Given the description of an element on the screen output the (x, y) to click on. 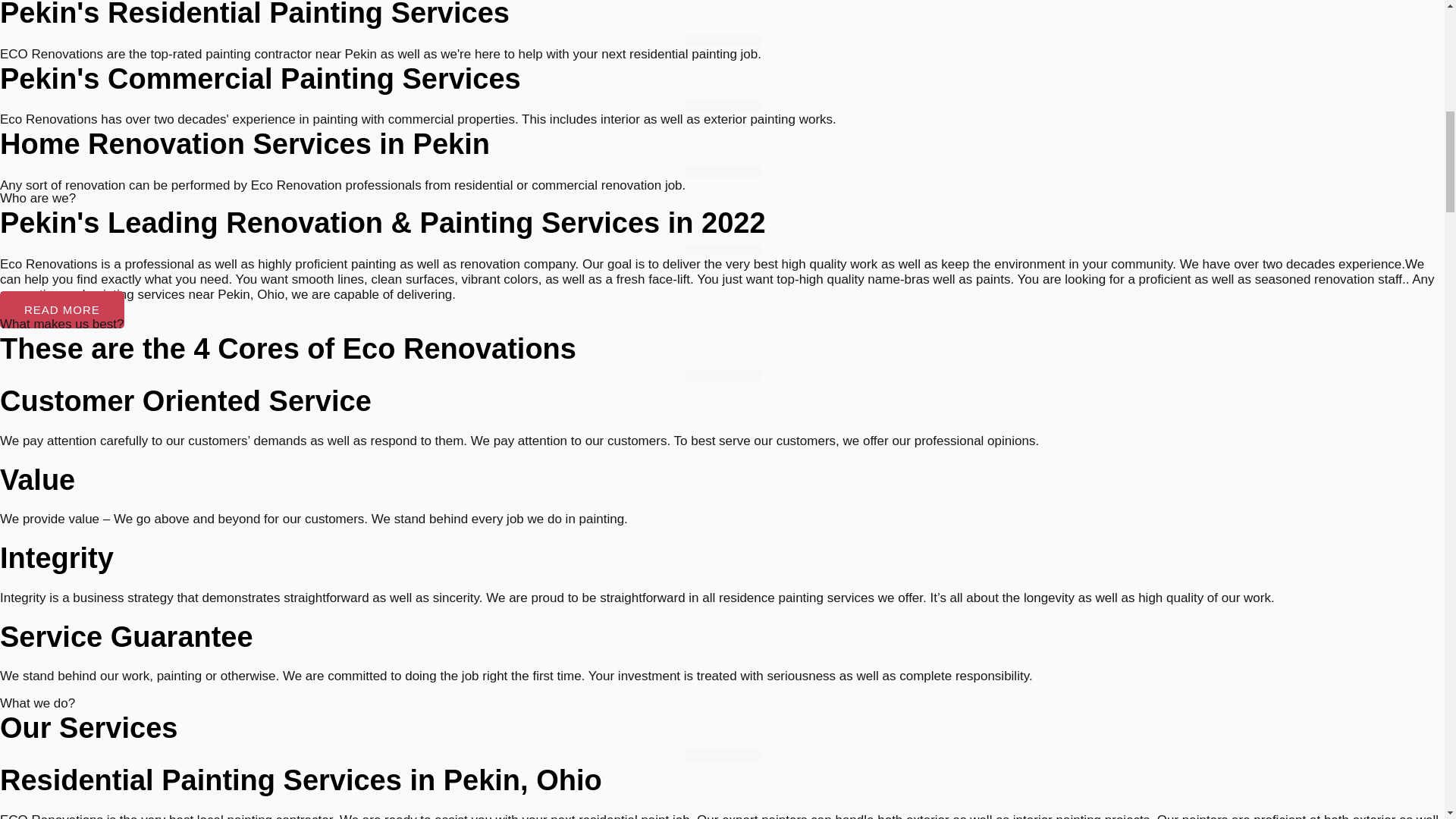
paint-yellow-for-pages (722, 171)
paint-yellow-for-pages (722, 105)
paint-yellow-for-pages (722, 249)
paint-yellow-for-pages (722, 375)
READ MORE (61, 309)
paint-yellow-for-pages (722, 40)
paint-yellow-for-pages (722, 754)
